Given the description of an element on the screen output the (x, y) to click on. 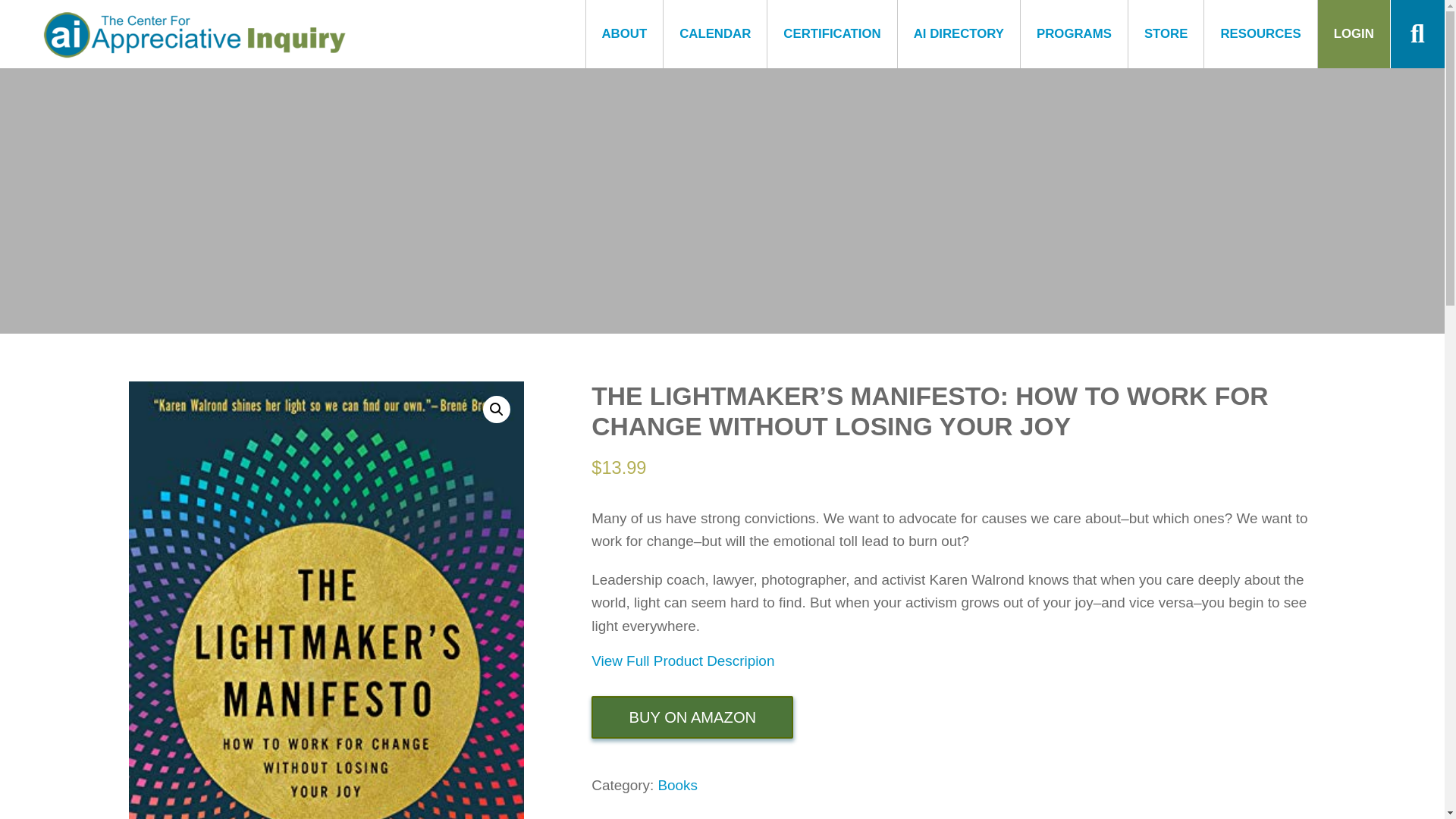
BUY ON AMAZON (692, 717)
AI DIRECTORY (959, 33)
CALENDAR (715, 33)
PROGRAMS (1074, 33)
View Full Product Descripion (682, 660)
LOGIN (1353, 33)
RESOURCES (1260, 33)
STORE (1166, 33)
ABOUT (624, 33)
avoiding burnout in activism (194, 33)
Books (677, 785)
CERTIFICATION (831, 33)
